Given the description of an element on the screen output the (x, y) to click on. 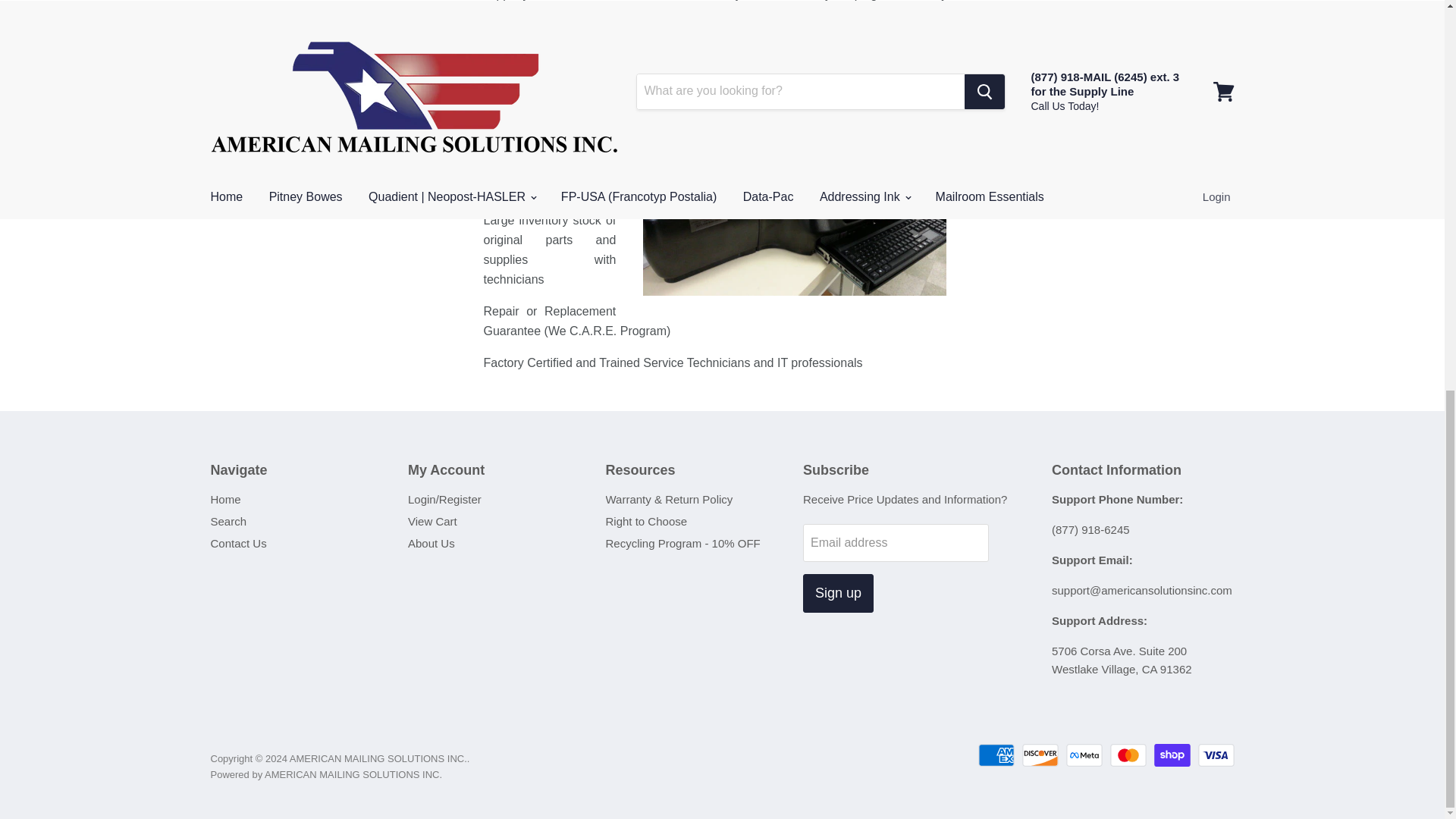
Visa (1216, 754)
Shop Pay (1172, 754)
Meta Pay (1083, 754)
American Express (996, 754)
Mastercard (1128, 754)
Discover (1040, 754)
